Given the description of an element on the screen output the (x, y) to click on. 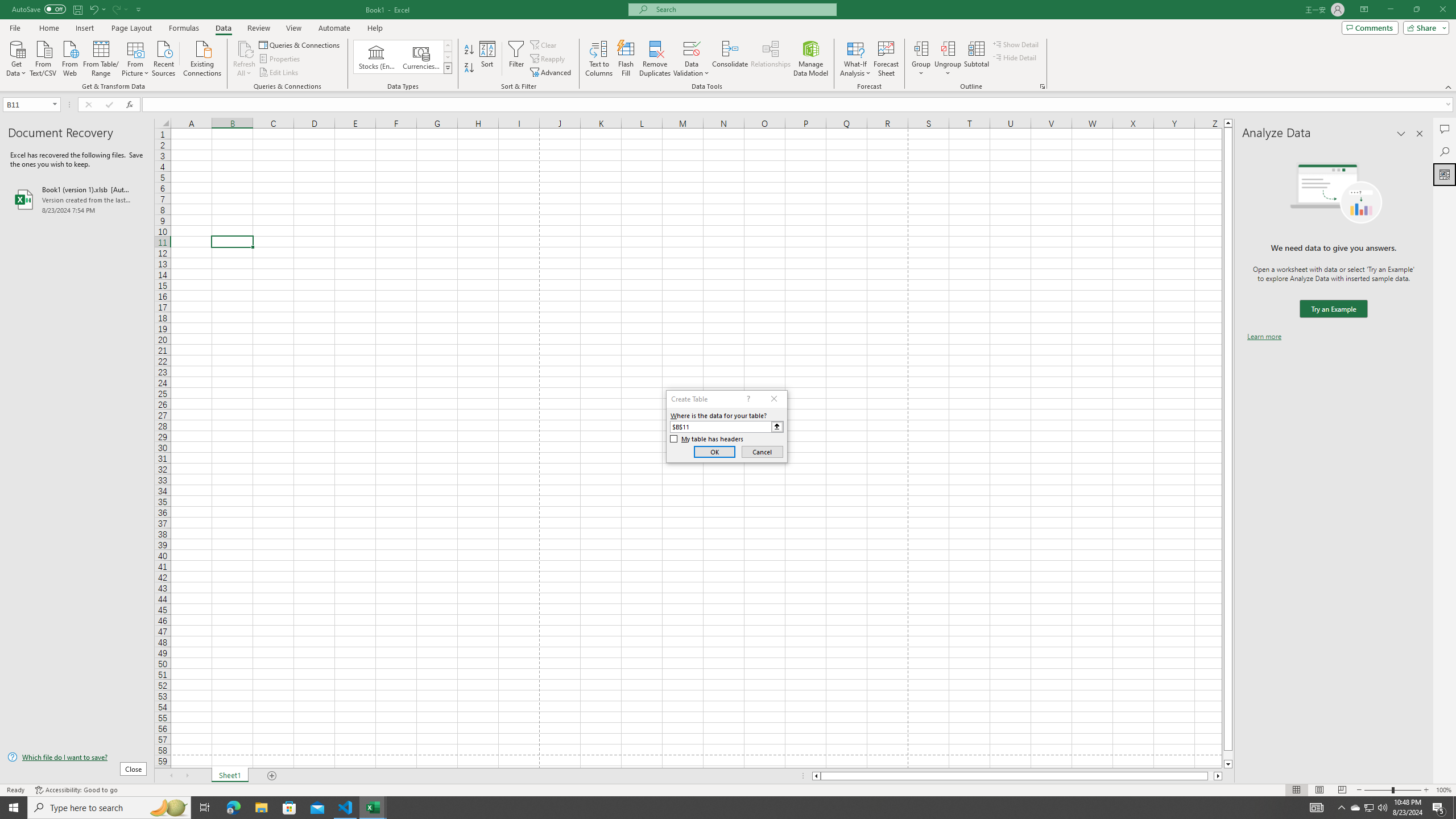
Page down (1228, 755)
From Table/Range (100, 57)
Text to Columns... (598, 58)
